Given the description of an element on the screen output the (x, y) to click on. 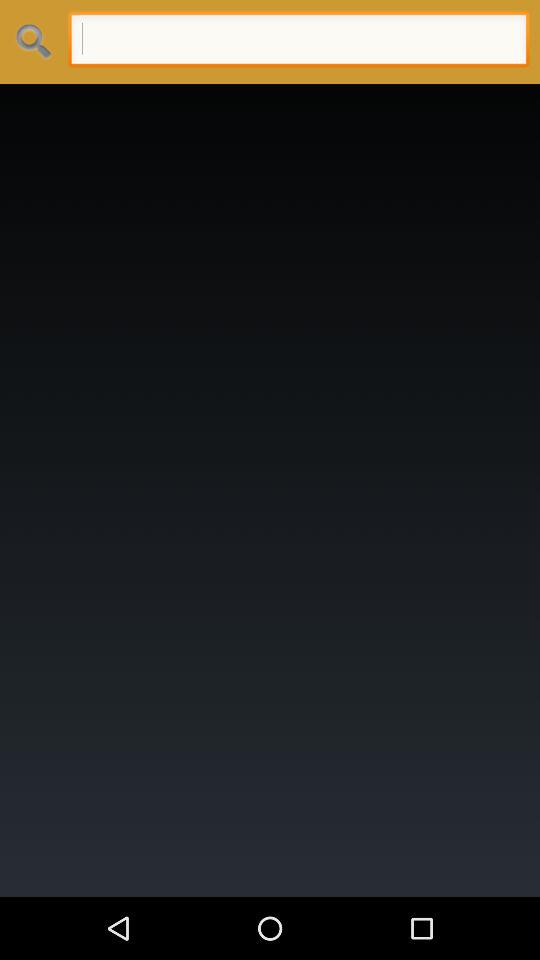
input researched keywords (298, 41)
